Given the description of an element on the screen output the (x, y) to click on. 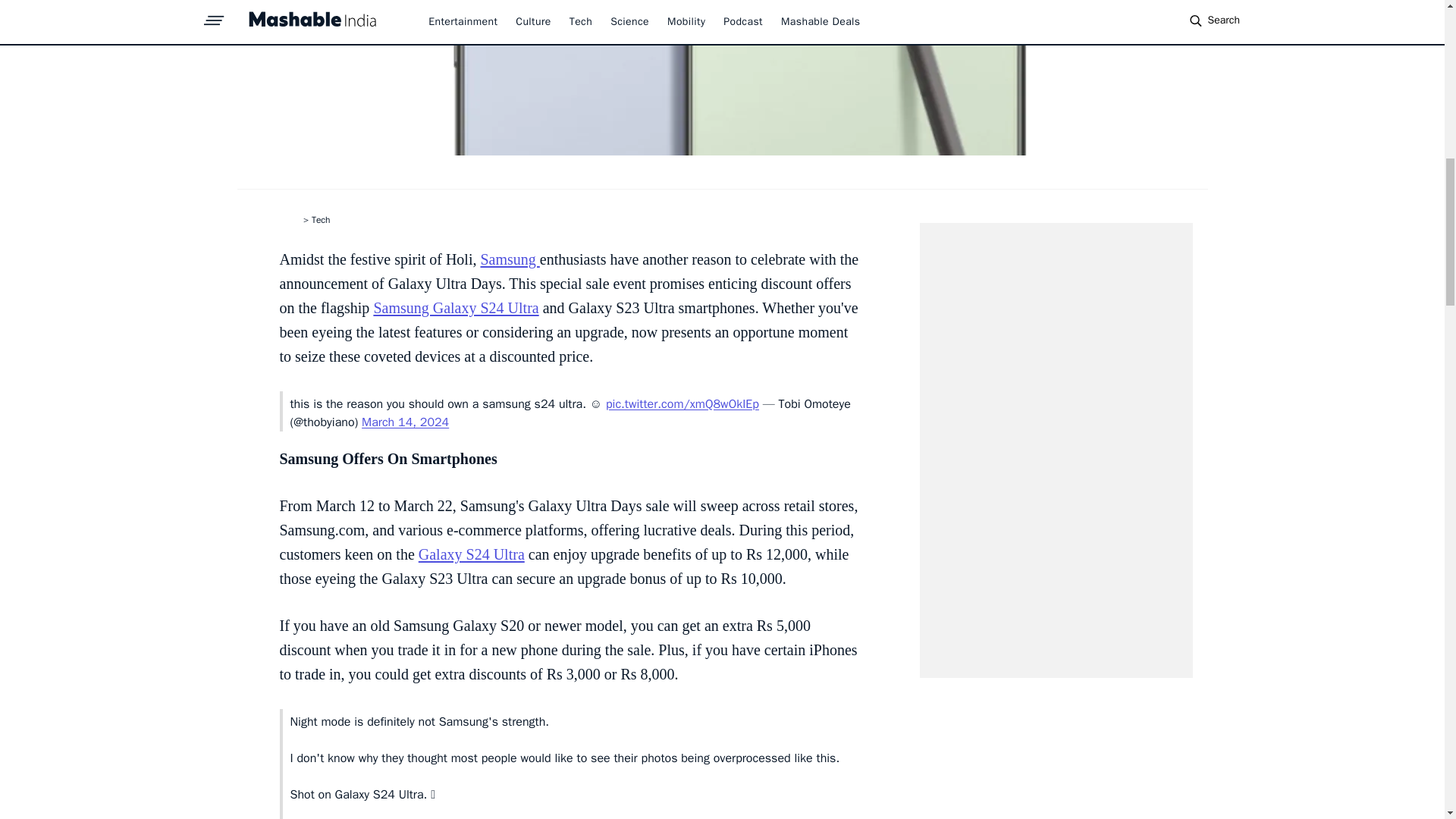
Samsung (509, 258)
March 14, 2024 (404, 421)
Samsung Galaxy S24 Ultra (455, 307)
Galaxy S24 Ultra (471, 554)
